Given the description of an element on the screen output the (x, y) to click on. 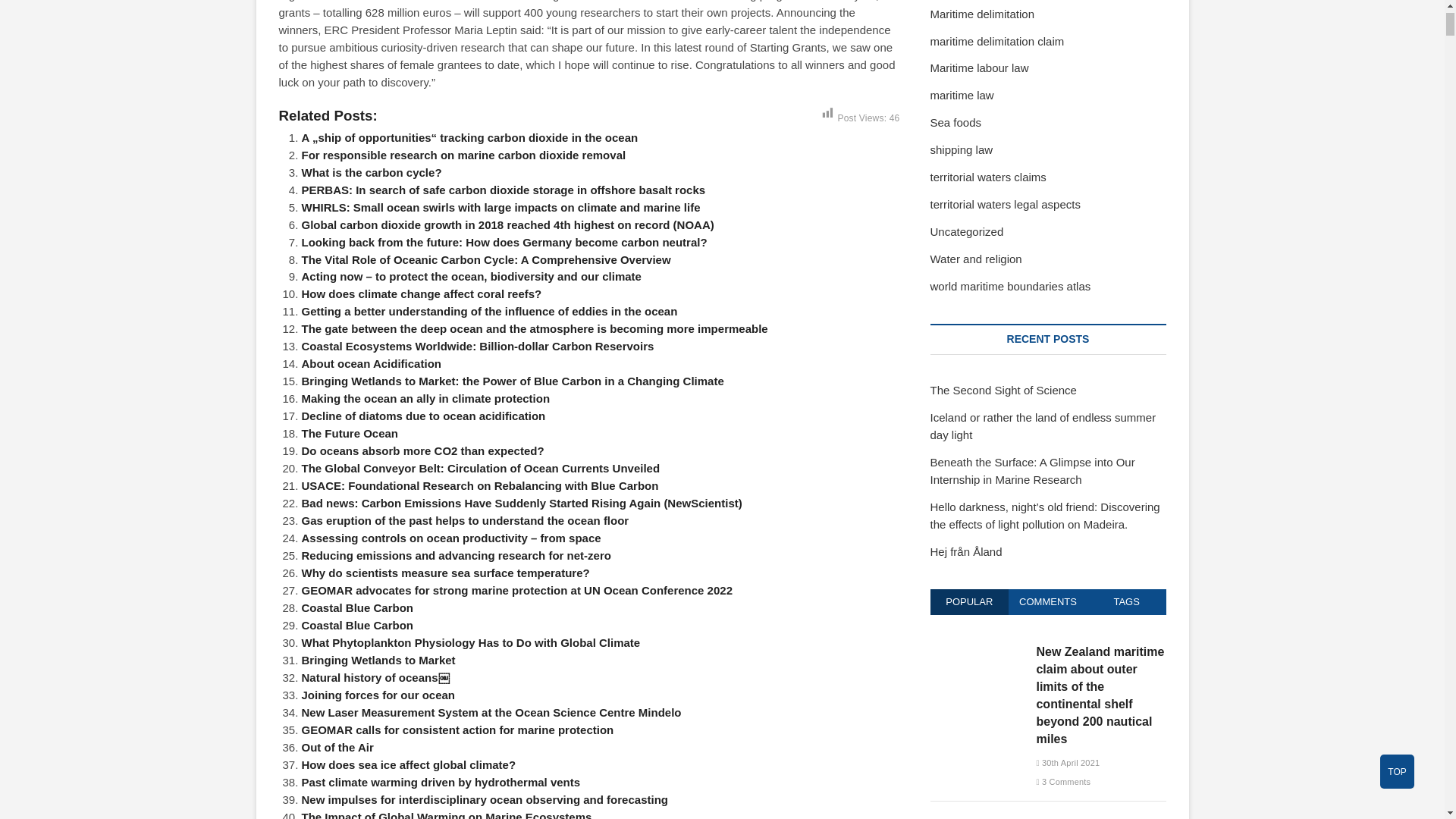
What is the carbon cycle? (371, 172)
For responsible research on marine carbon dioxide removal (463, 154)
What is the carbon cycle? (371, 172)
How does climate change affect coral reefs? (421, 293)
For responsible research on marine carbon dioxide removal (463, 154)
